Given the description of an element on the screen output the (x, y) to click on. 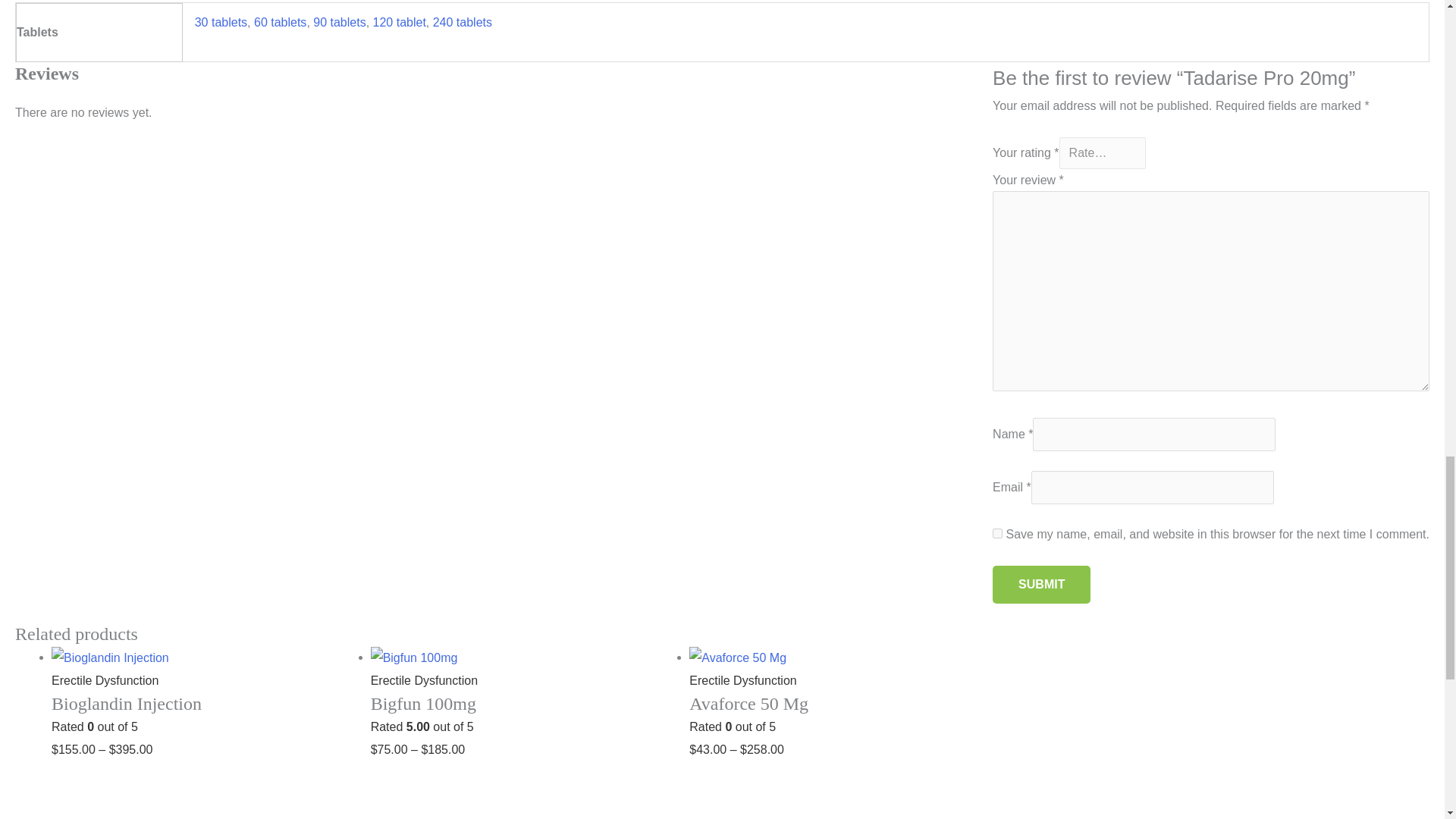
90 tablets (339, 21)
Submit (1041, 584)
60 tablets (279, 21)
120 tablet (399, 21)
Bigfun 100mg (523, 712)
240 tablets (462, 21)
30 tablets (221, 21)
Bioglandin Injection (202, 712)
Submit (1041, 584)
yes (997, 533)
